Given the description of an element on the screen output the (x, y) to click on. 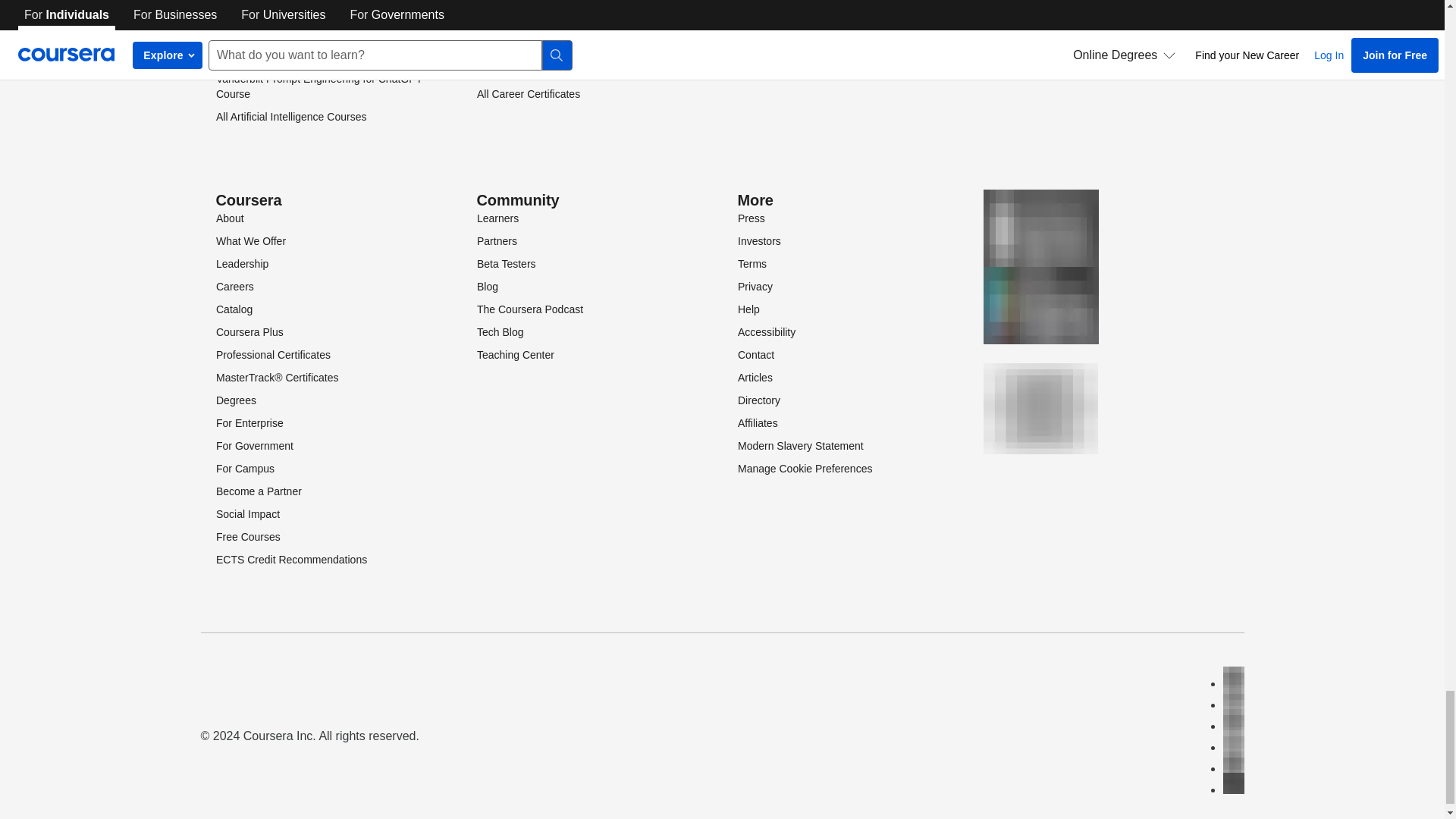
Stanford Machine Learning Specialization (312, 55)
IBM AI Product Manager Professional Certificate (303, 25)
Vanderbilt Prompt Engineering for ChatGPT Course (318, 85)
